Given the description of an element on the screen output the (x, y) to click on. 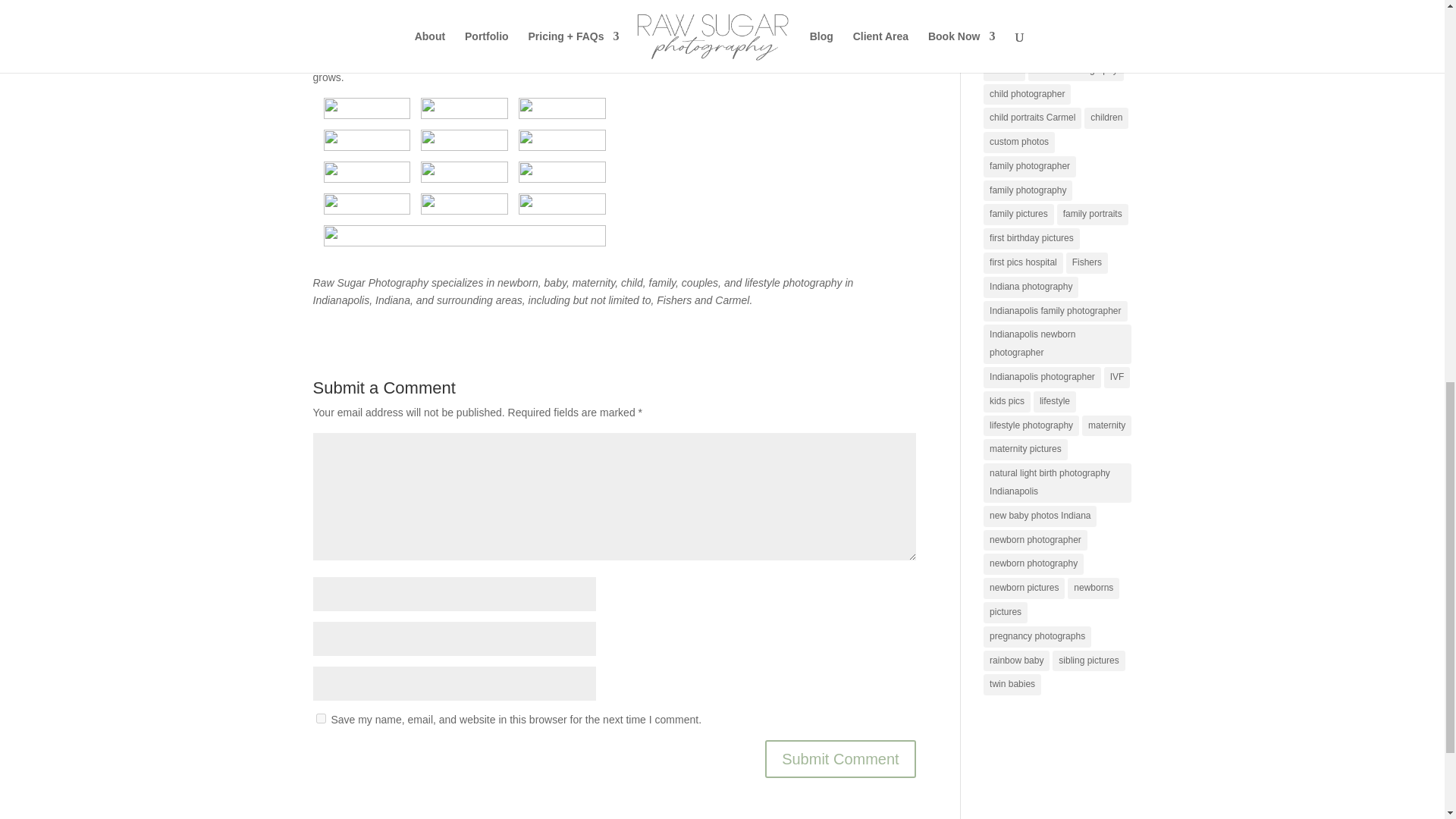
yes (319, 718)
Submit Comment (840, 759)
Submit Comment (840, 759)
